Given the description of an element on the screen output the (x, y) to click on. 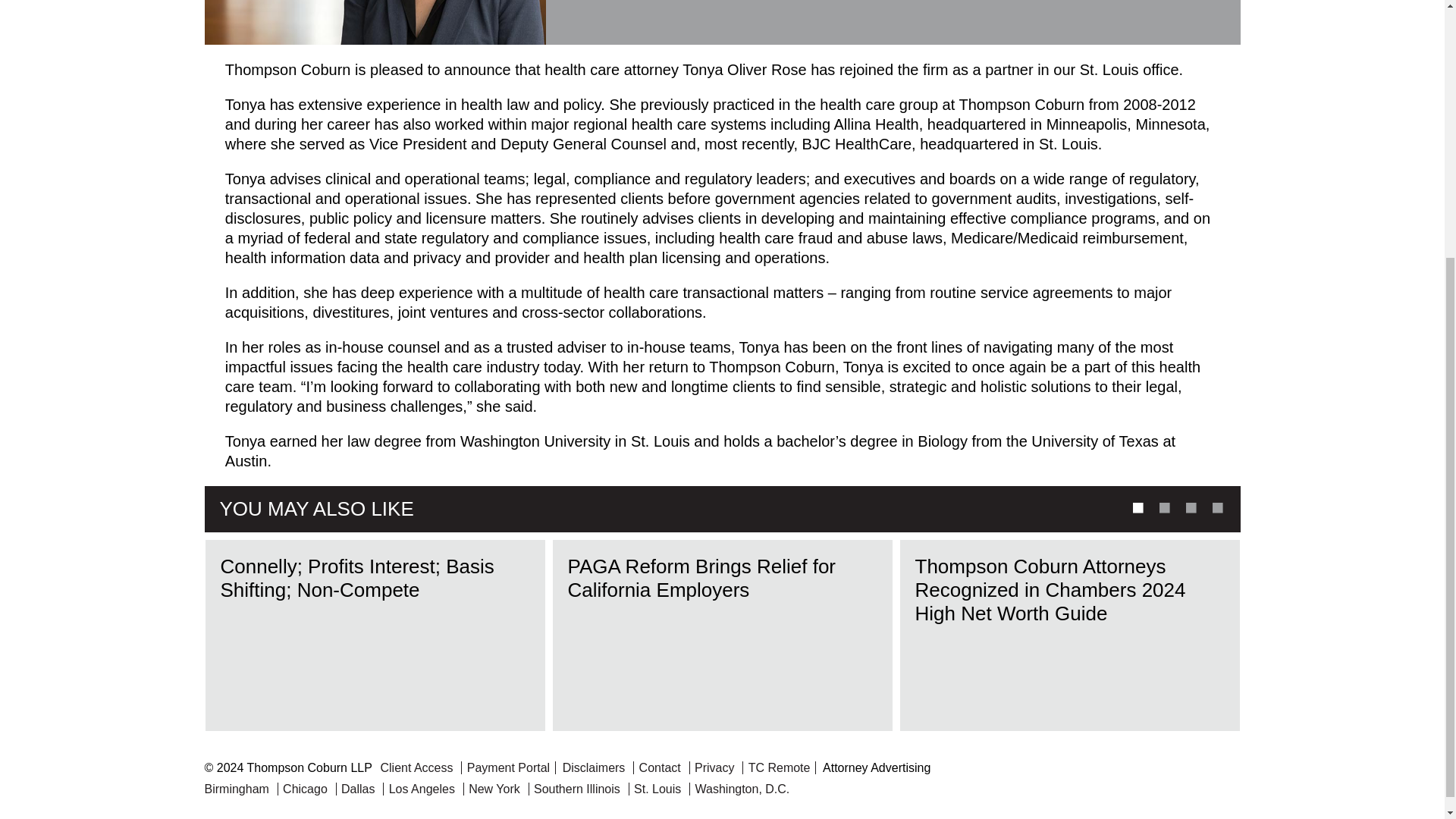
PAGA Reform Brings Relief for California Employers (722, 635)
3 (1189, 506)
4 (1216, 506)
1 (1135, 506)
Connelly; Profits Interest; Basis Shifting; Non-Compete (375, 635)
2 (1162, 506)
